Given the description of an element on the screen output the (x, y) to click on. 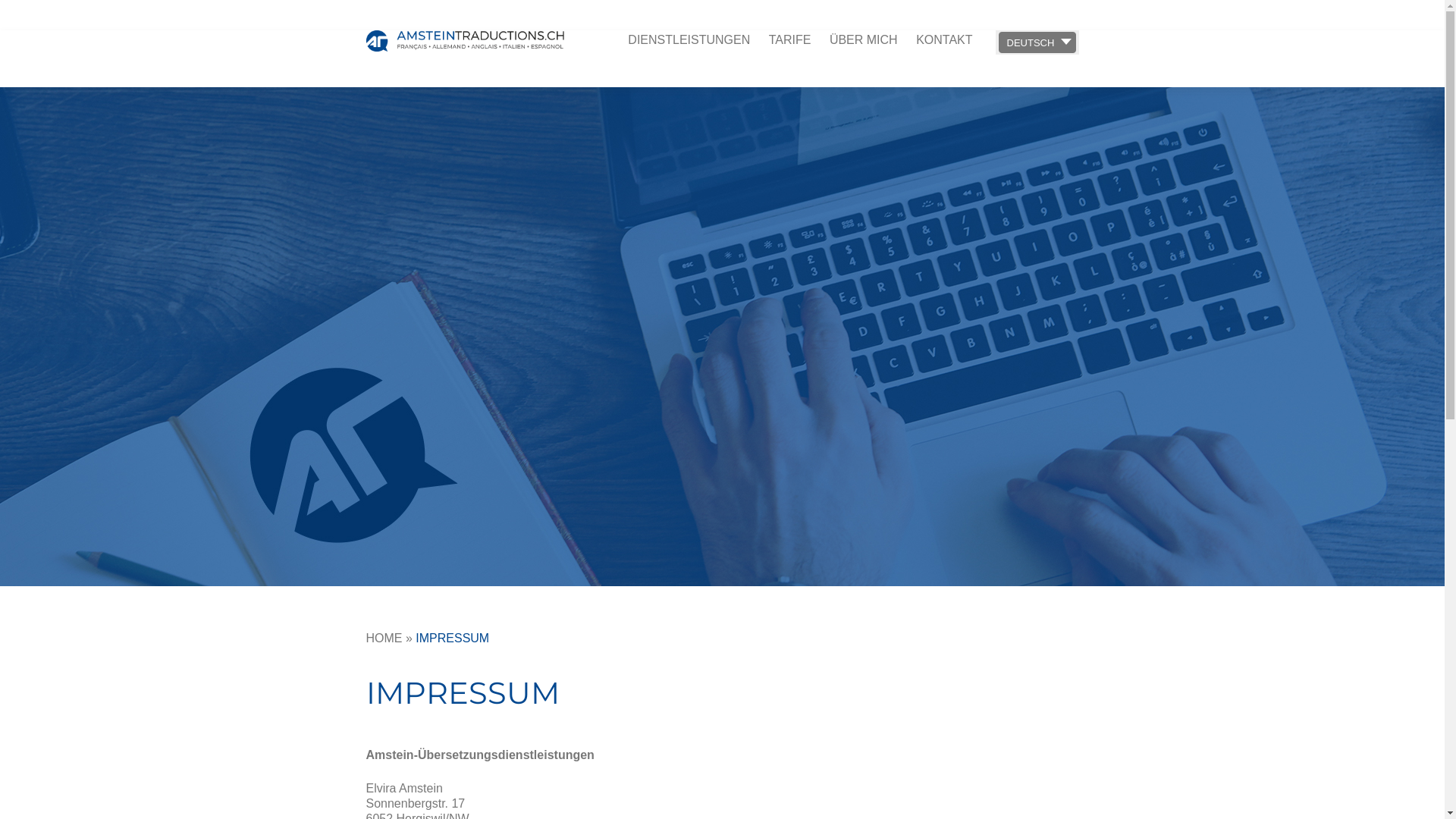
DEUTSCH Element type: text (1036, 42)
HOME Element type: text (383, 637)
